Given the description of an element on the screen output the (x, y) to click on. 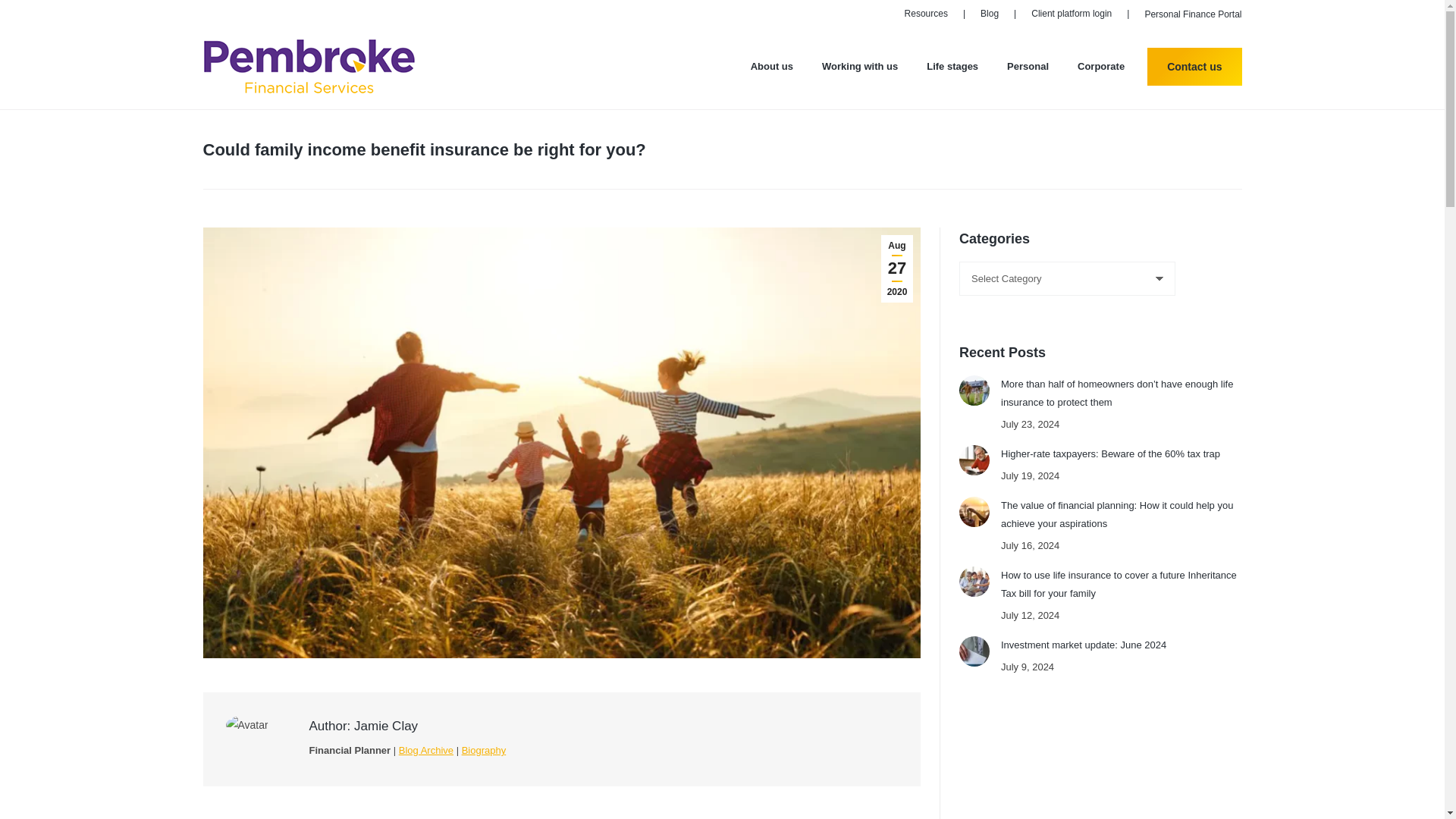
Client platform login (1071, 13)
Working with us (860, 66)
Resources (925, 13)
Life stages (952, 66)
Personal (1027, 66)
Blog (988, 13)
About us (772, 66)
